Given the description of an element on the screen output the (x, y) to click on. 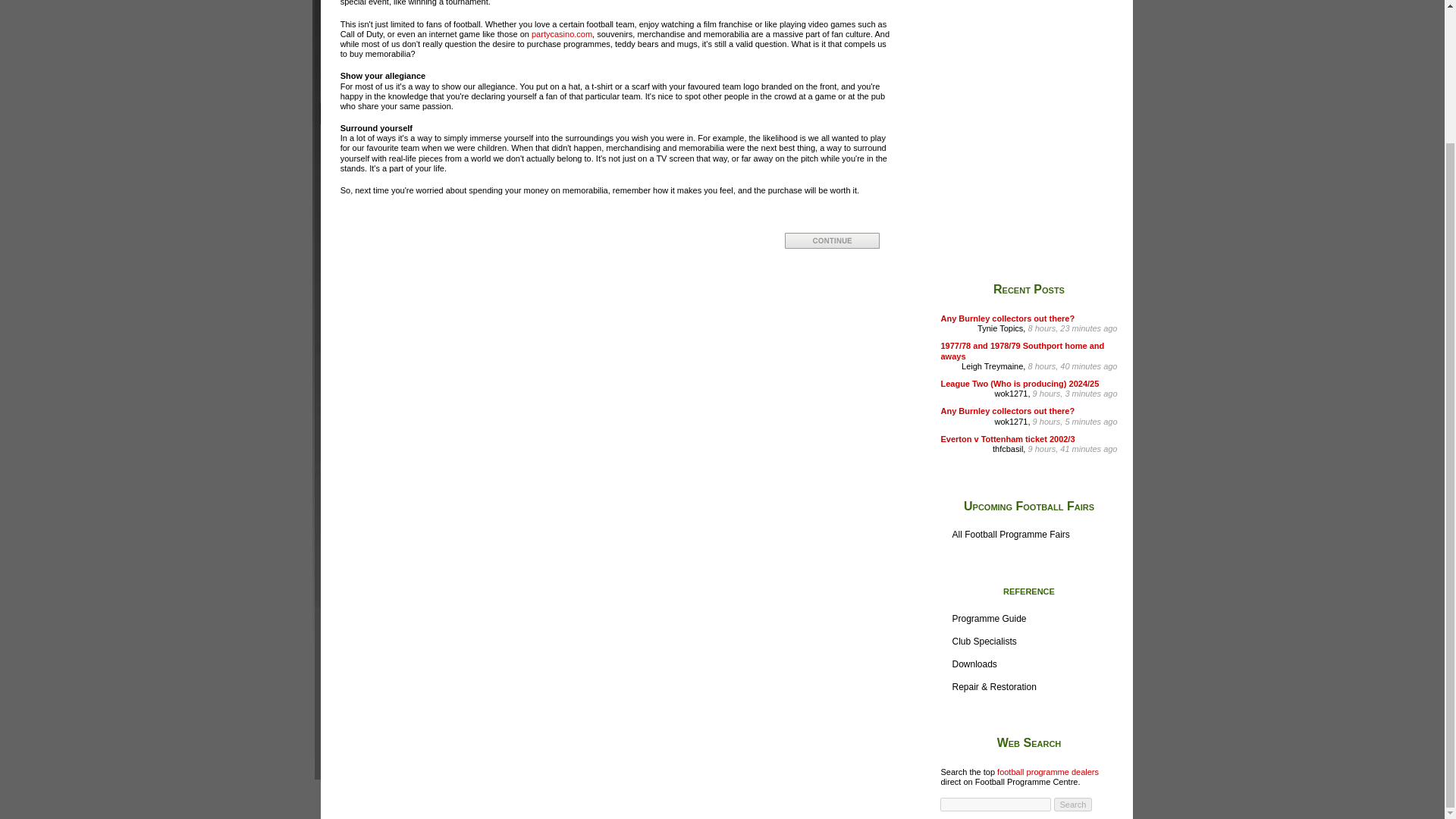
Search (1073, 804)
partycasino.com (561, 33)
 Continue  (831, 240)
Any Burnley collectors out there? (1007, 317)
